Given the description of an element on the screen output the (x, y) to click on. 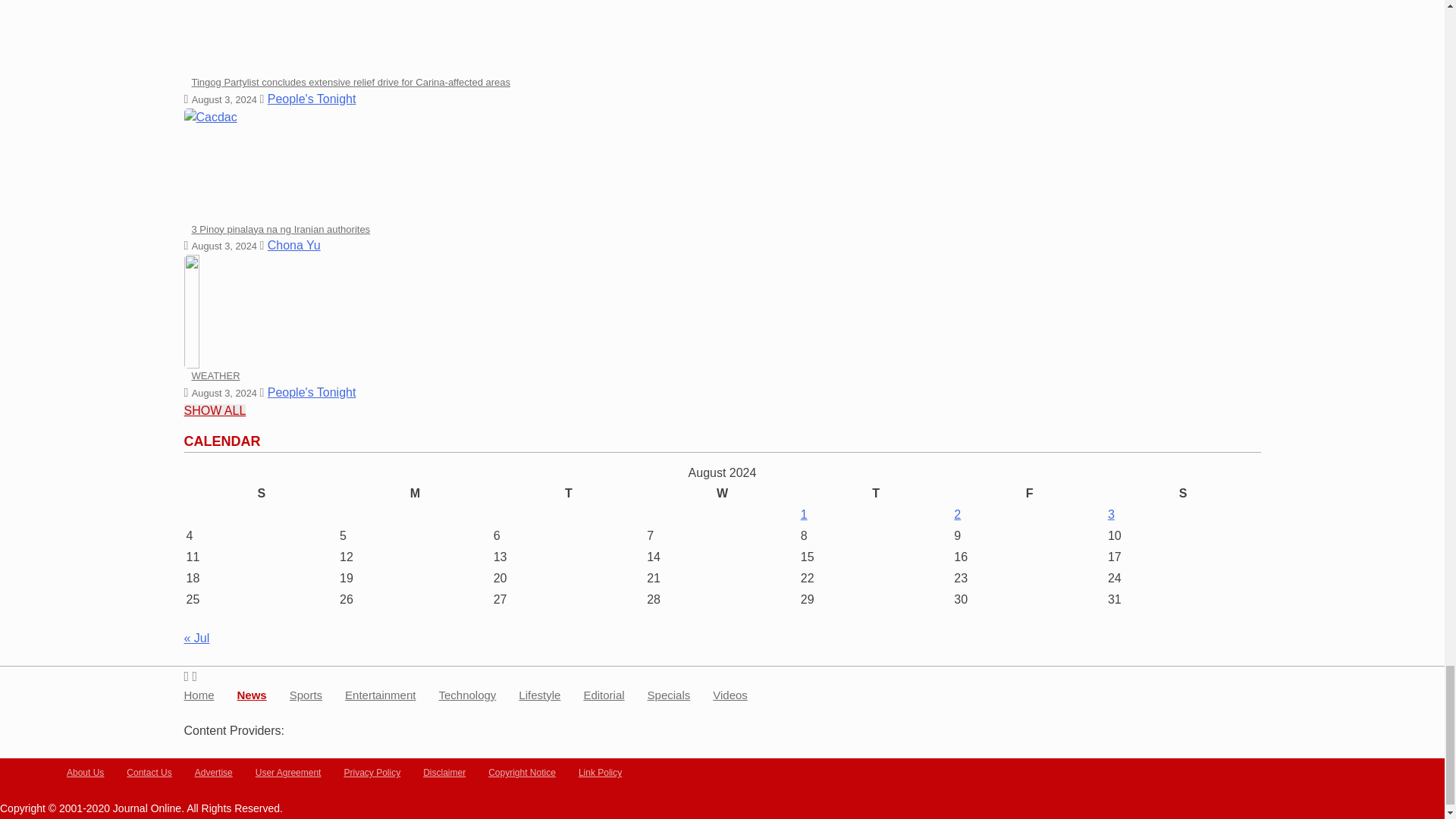
Friday (1029, 493)
Tuesday (569, 493)
Thursday (875, 493)
Monday (415, 493)
Sunday (260, 493)
Saturday (1182, 493)
Wednesday (721, 493)
